Given the description of an element on the screen output the (x, y) to click on. 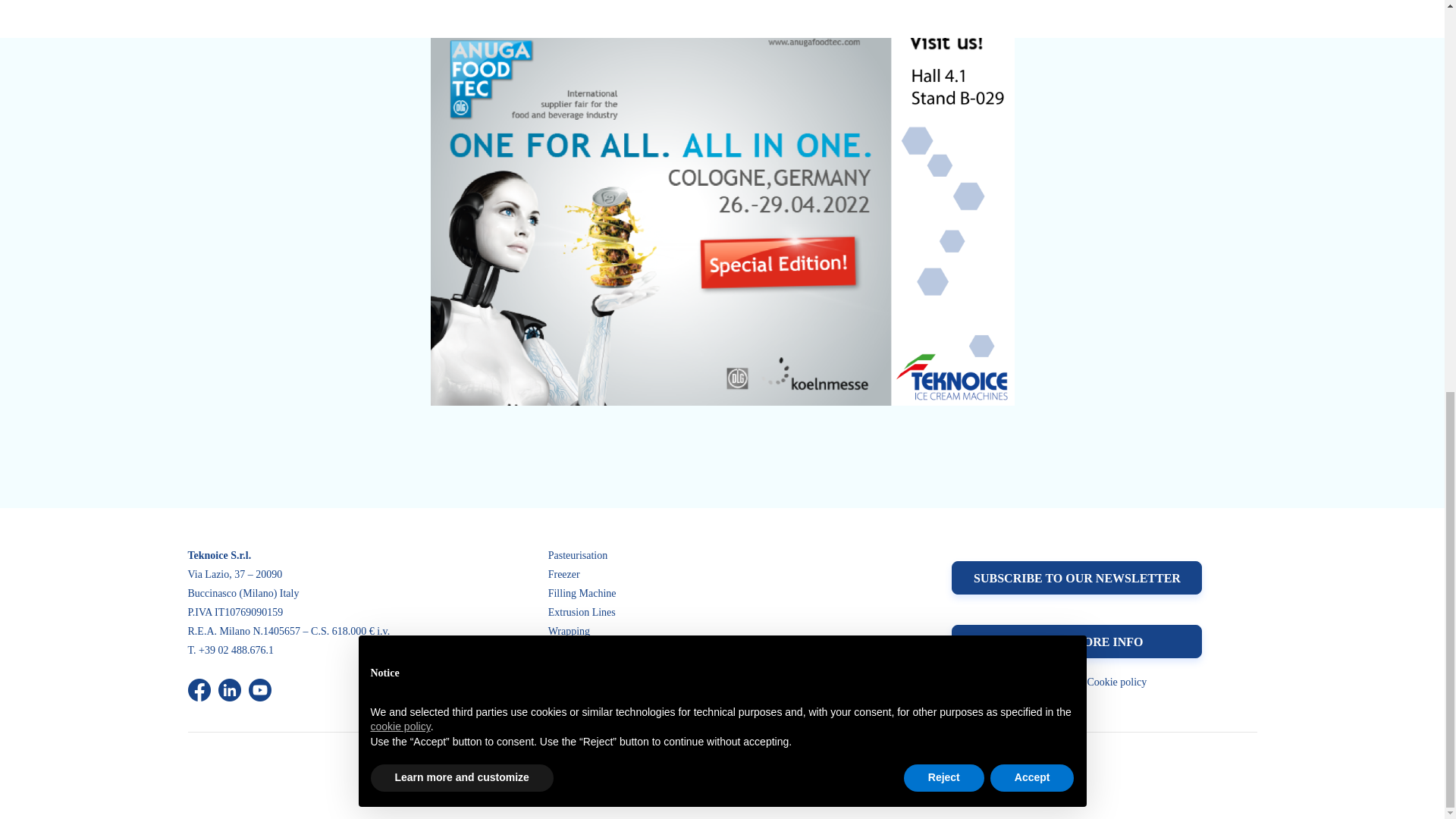
SUBSCRIBE TO OUR NEWSLETTER (1077, 577)
REQUEST MORE INFO (1077, 641)
